Given the description of an element on the screen output the (x, y) to click on. 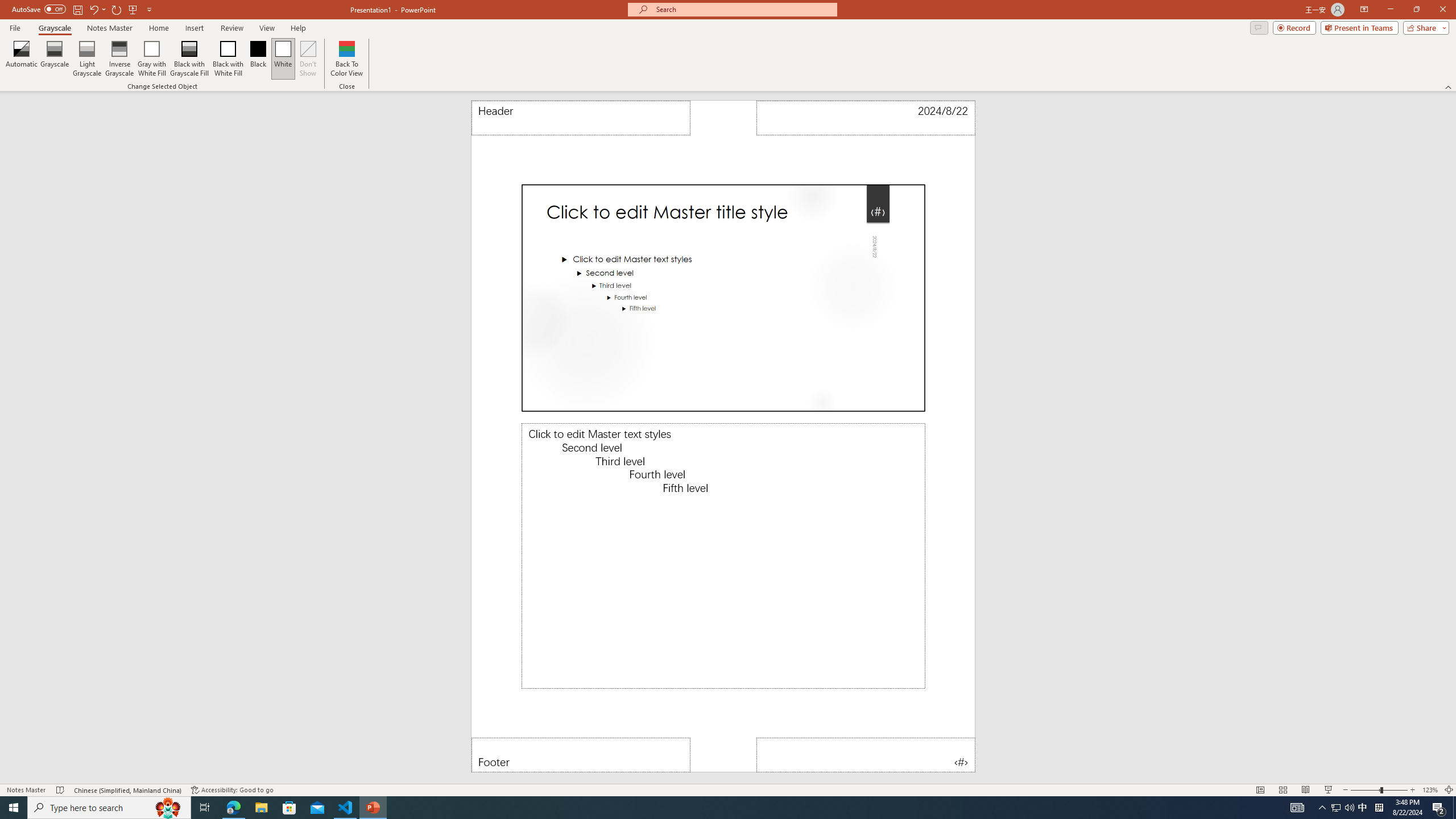
Light Grayscale (87, 58)
Don't Show (308, 58)
Black with Grayscale Fill (189, 58)
Back To Color View (346, 58)
